Given the description of an element on the screen output the (x, y) to click on. 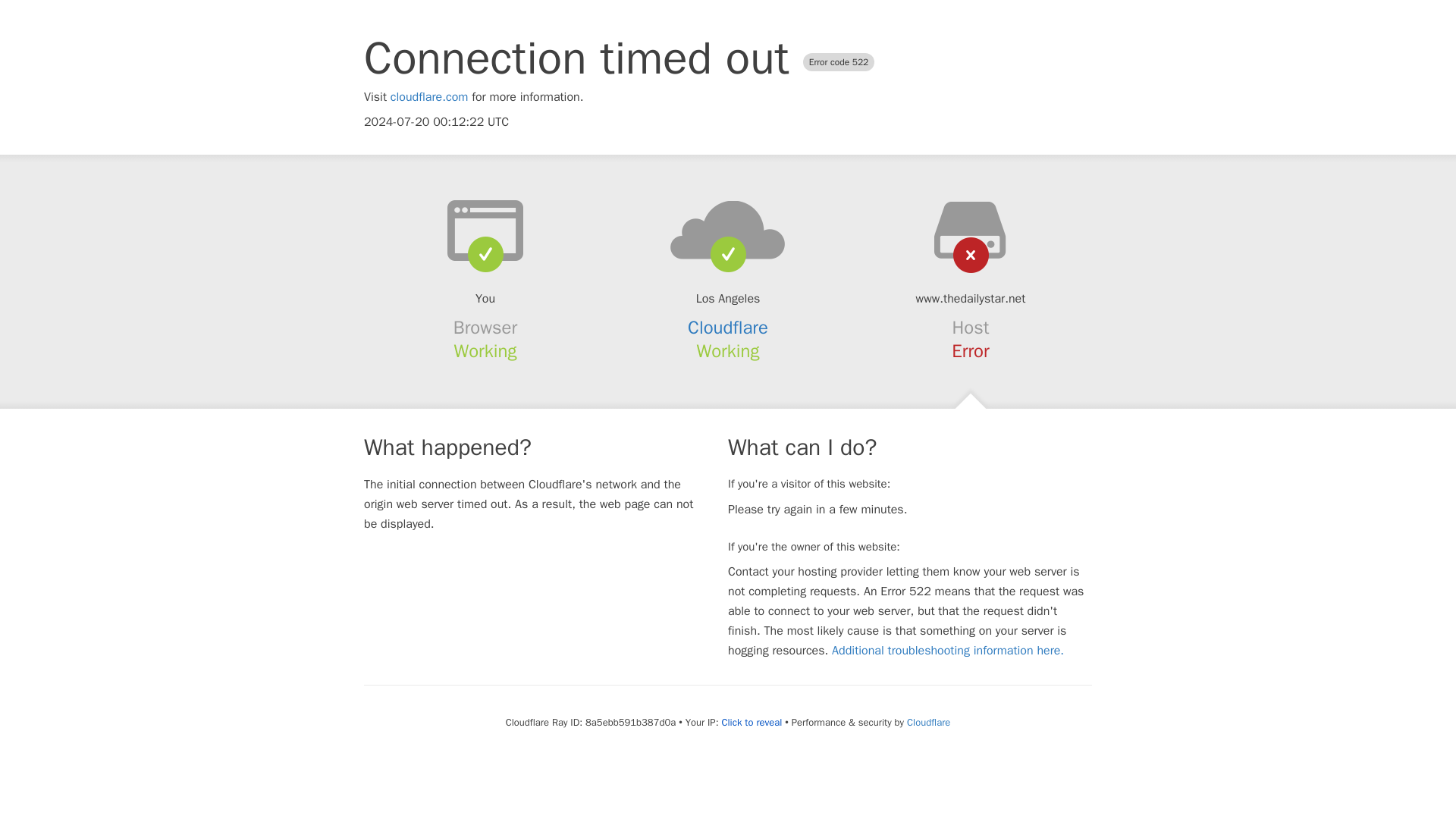
Cloudflare (928, 721)
Additional troubleshooting information here. (947, 650)
Click to reveal (750, 722)
Cloudflare (727, 327)
cloudflare.com (429, 96)
